Given the description of an element on the screen output the (x, y) to click on. 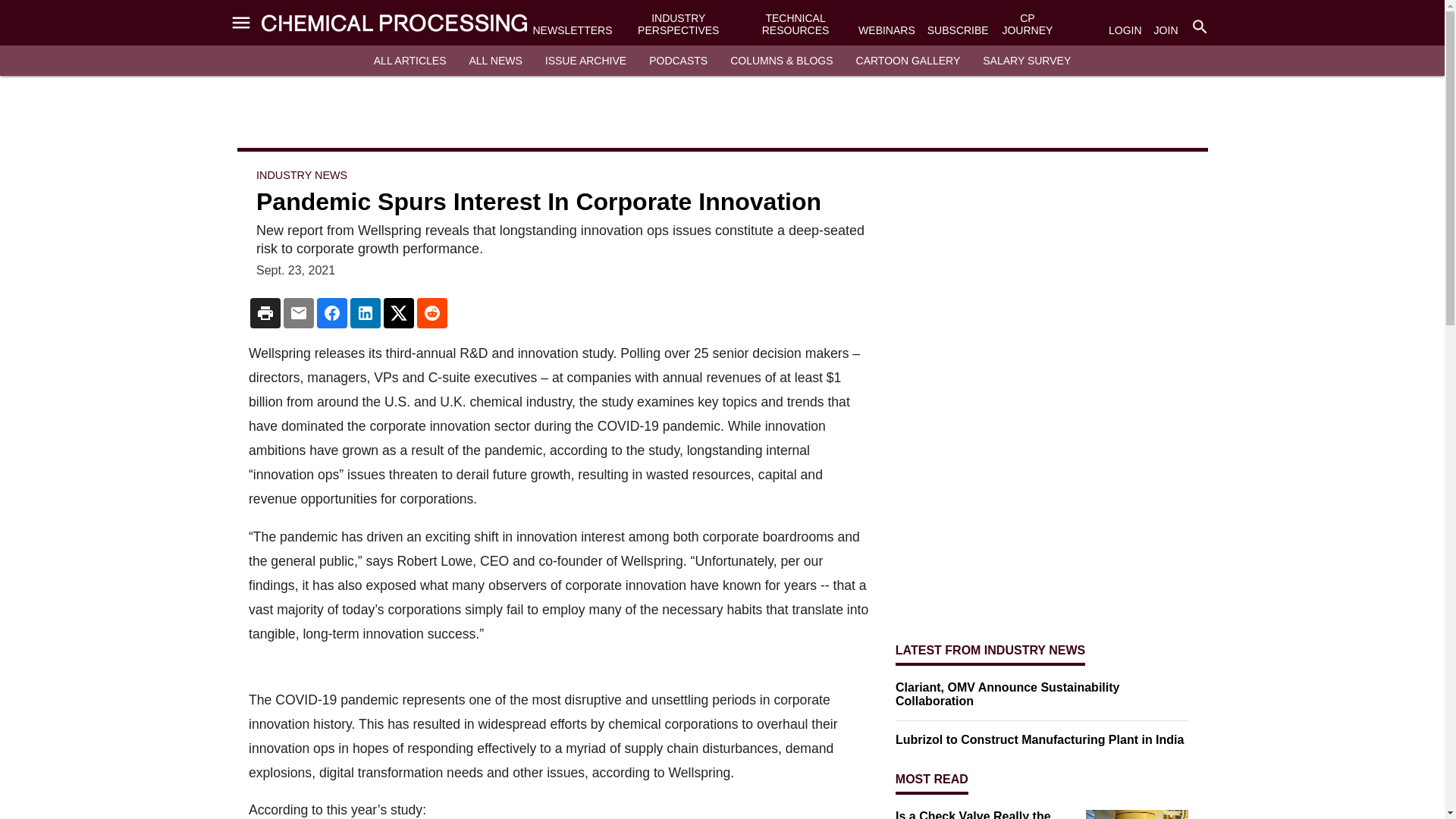
INDUSTRY PERSPECTIVES (678, 24)
WEBINARS (887, 30)
SALARY SURVEY (1026, 60)
ISSUE ARCHIVE (585, 60)
JOIN (1165, 30)
ALL NEWS (494, 60)
ALL ARTICLES (410, 60)
TECHNICAL RESOURCES (795, 24)
CARTOON GALLERY (908, 60)
CP JOURNEY (1026, 24)
LOGIN (1124, 30)
PODCASTS (678, 60)
SUBSCRIBE (957, 30)
NEWSLETTERS (571, 30)
